Given the description of an element on the screen output the (x, y) to click on. 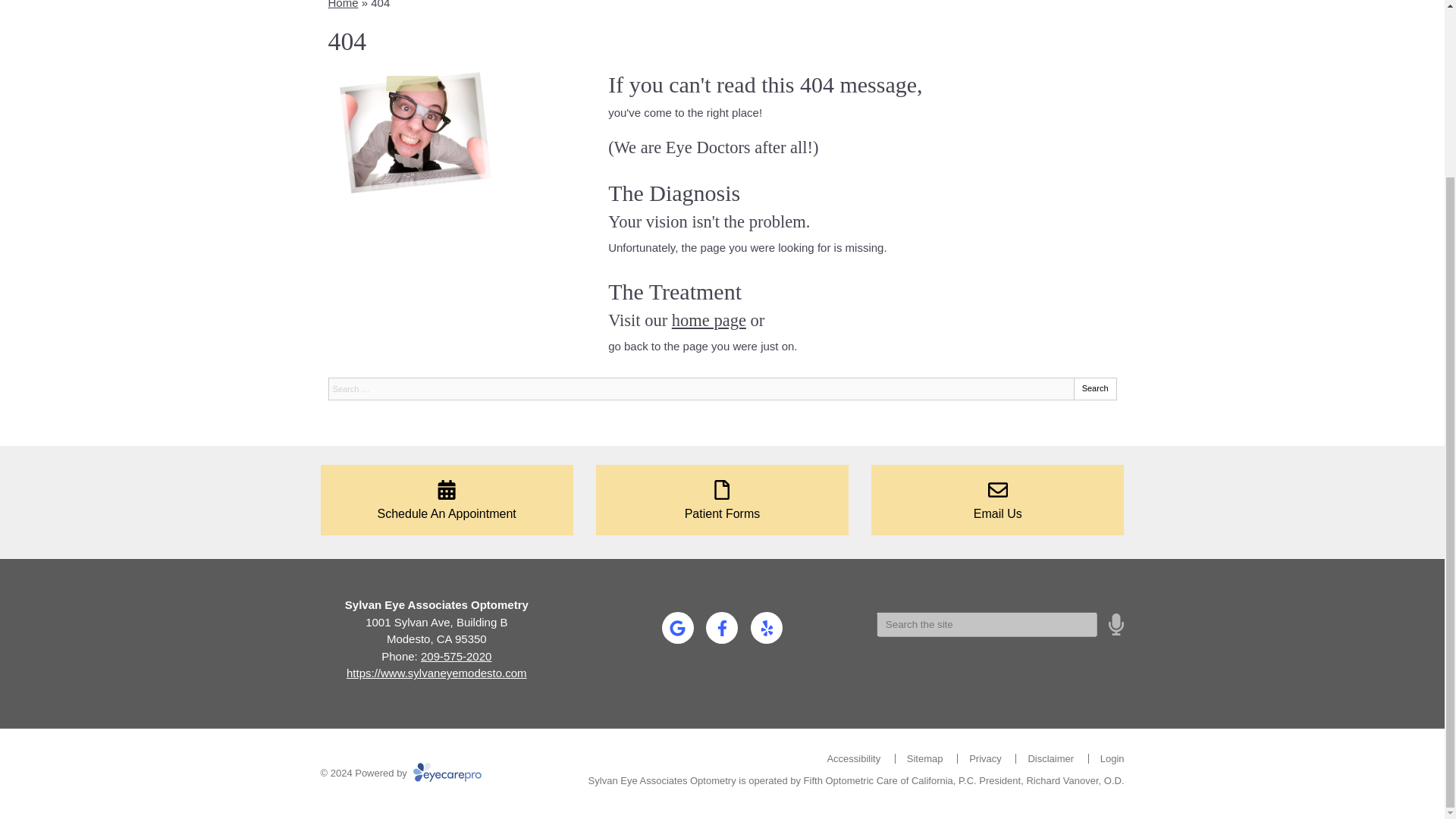
Sitemap (925, 758)
Speak Field (986, 623)
Home (342, 4)
Search (1095, 388)
Schedule An Appointment (446, 500)
Disclaimer (1050, 758)
Login (1112, 758)
Accessibility (853, 758)
Email Us (997, 500)
Patient Forms (721, 500)
